Given the description of an element on the screen output the (x, y) to click on. 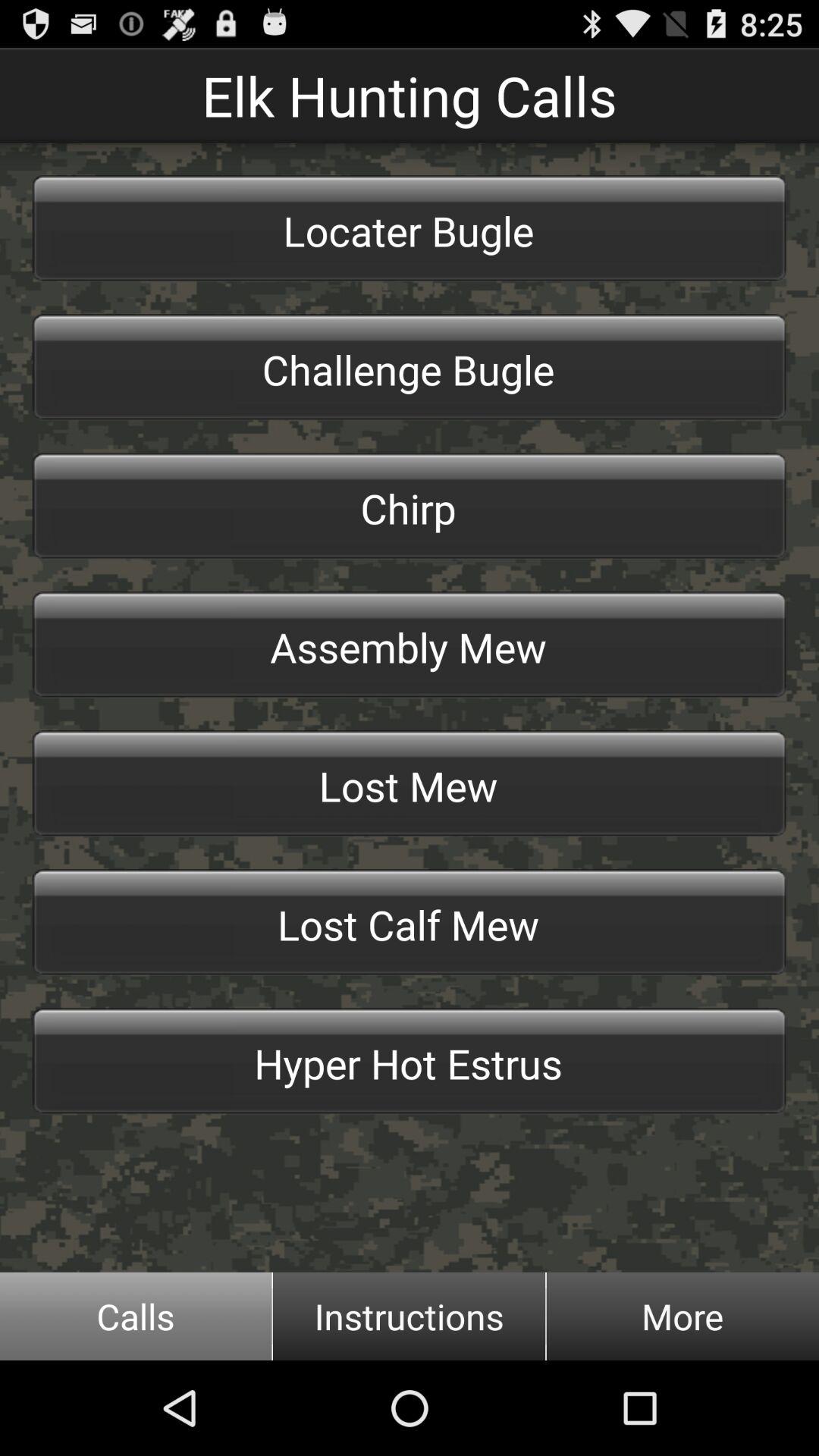
tap item below chirp icon (409, 644)
